Given the description of an element on the screen output the (x, y) to click on. 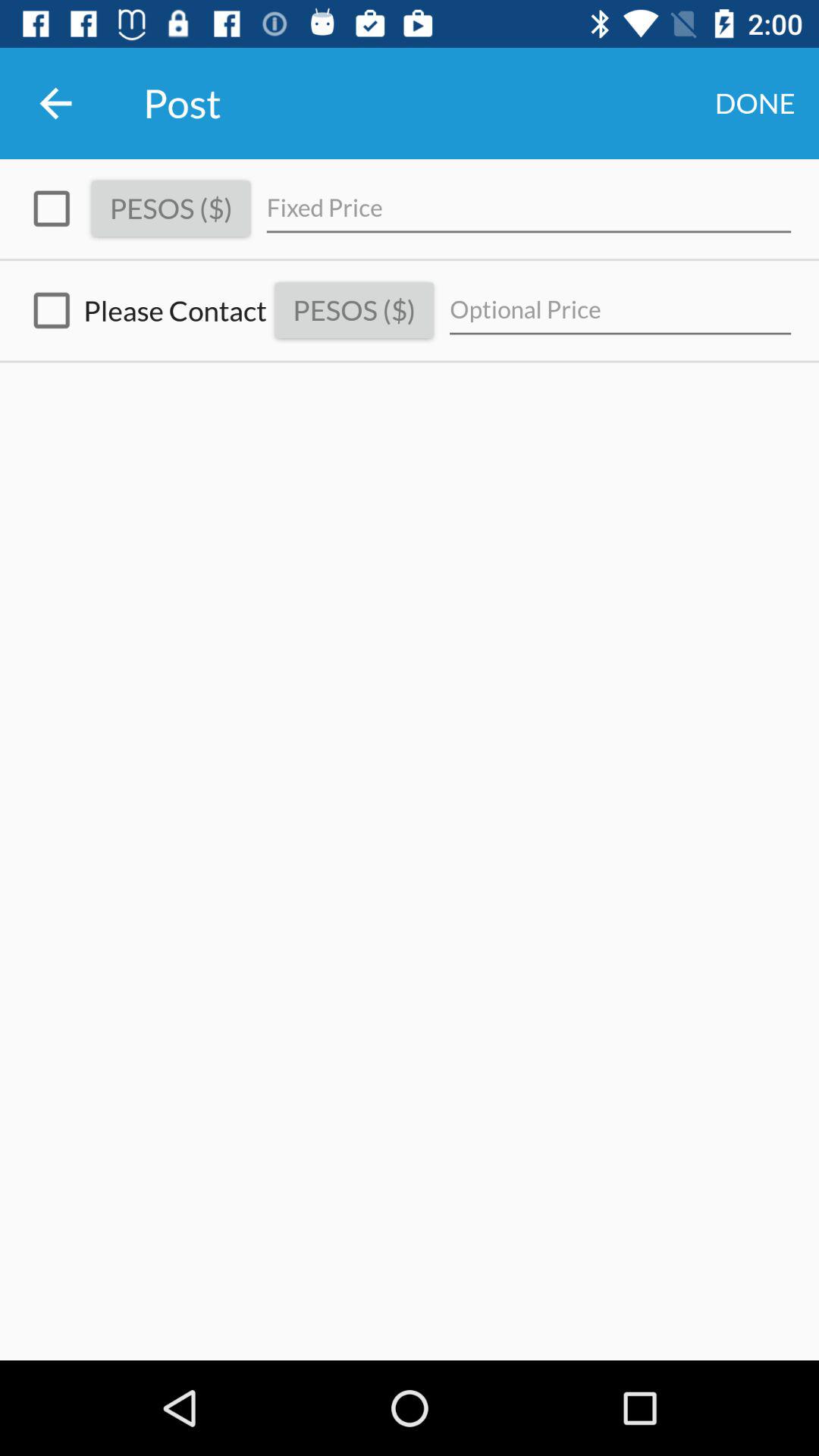
select the item next to pesos ($) icon (528, 208)
